Given the description of an element on the screen output the (x, y) to click on. 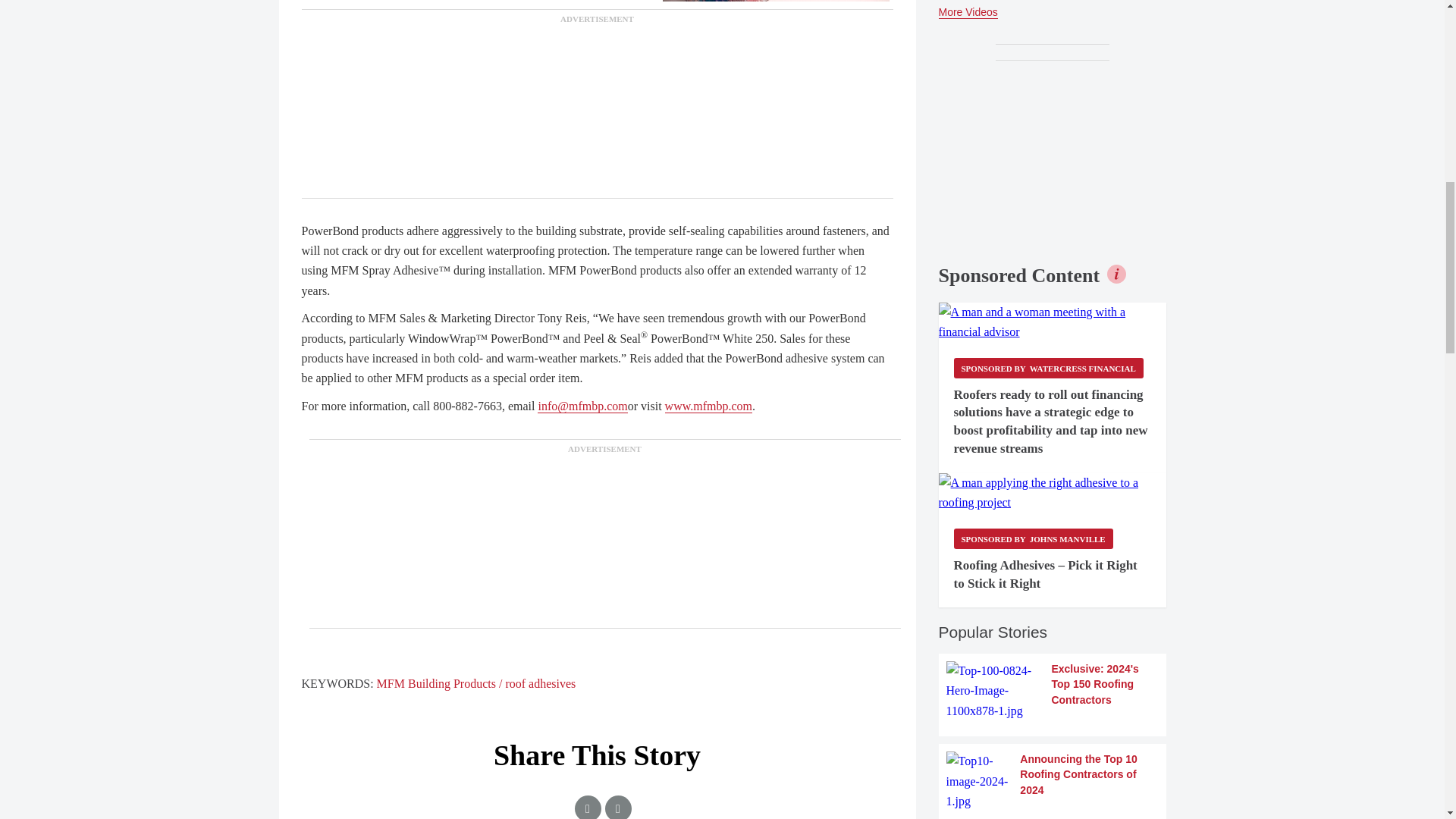
Sponsored by Johns Manville (1033, 538)
Exclusive: 2024's Top 150 Roofing Contractors (1052, 690)
Announcing the Top 10 Roofing Contractors of 2024 (1052, 781)
Sponsored by Watercress Financial (1047, 367)
